Given the description of an element on the screen output the (x, y) to click on. 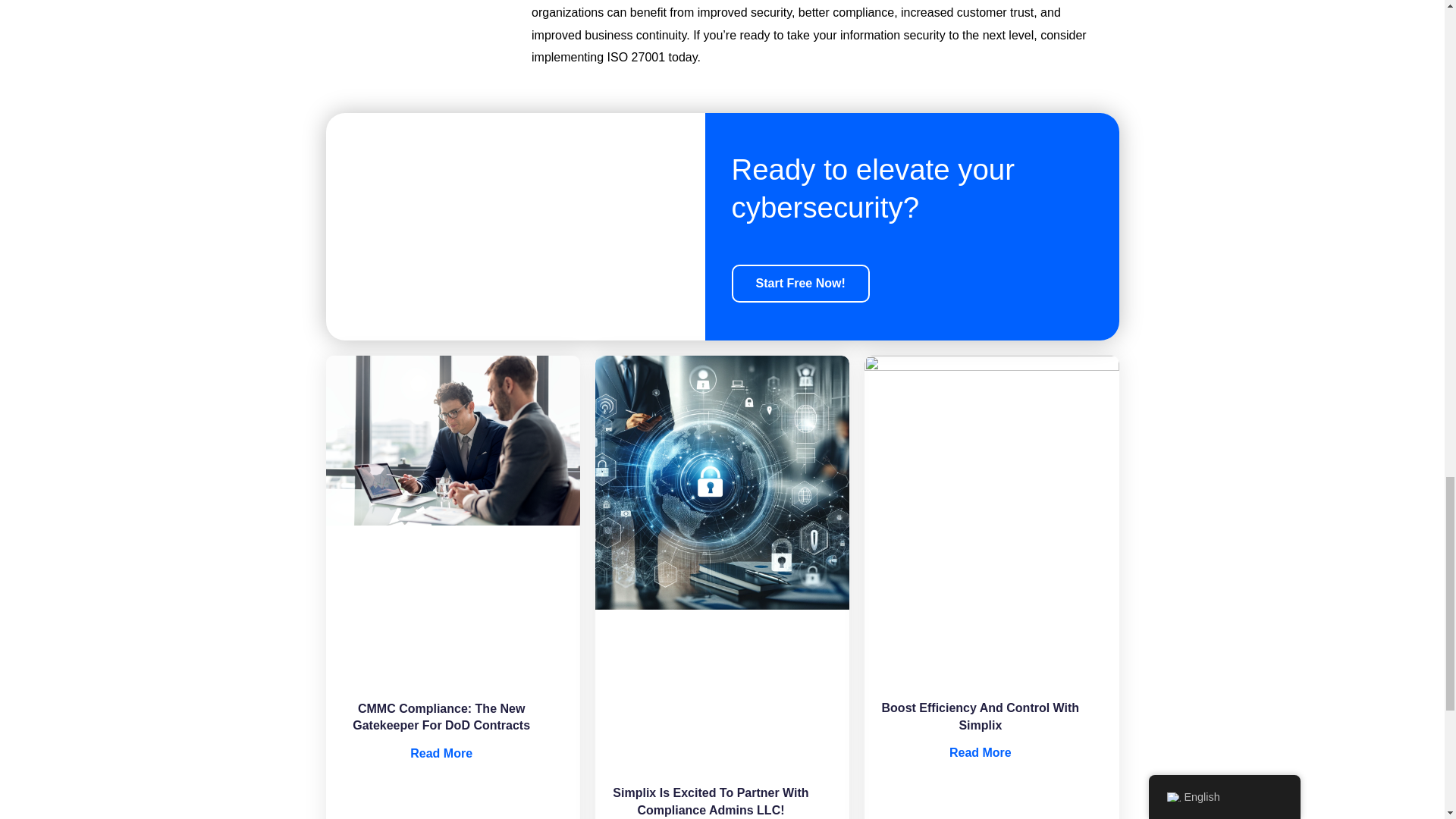
CMMC Compliance: The New Gatekeeper For DoD Contracts (440, 716)
Read More (980, 752)
Simplix Is Excited To Partner With Compliance Admins LLC! (710, 800)
Boost Efficiency And Control With Simplix (440, 753)
